Given the description of an element on the screen output the (x, y) to click on. 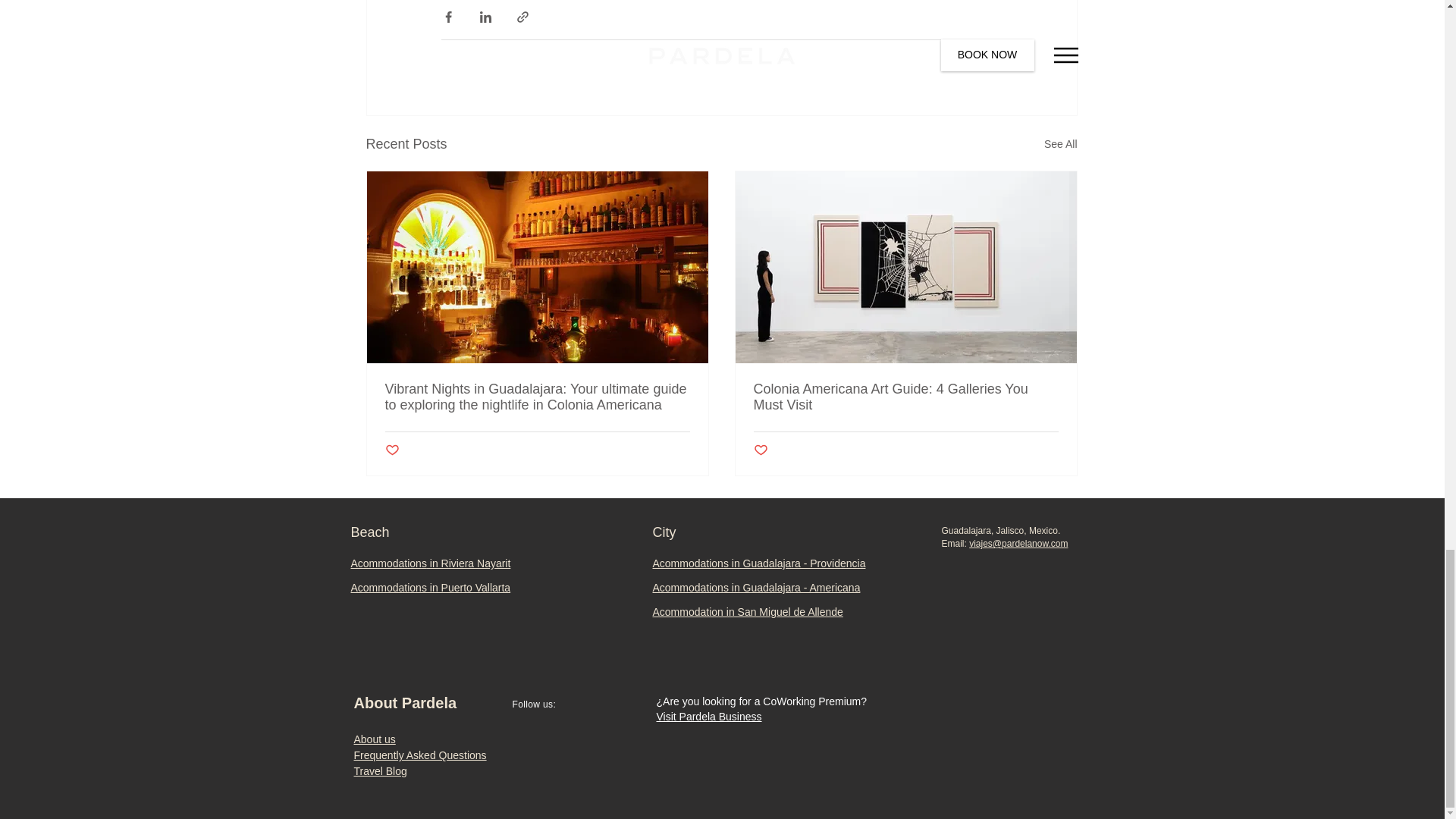
Colonia Americana Art Guide: 4 Galleries You Must Visit (906, 397)
Post not marked as liked (994, 61)
Acommodations in Puerto Vallarta (430, 587)
Acommodations in Guadalajara - Providencia (758, 563)
Post not marked as liked (761, 450)
Acommodations in Guadalajara - Americana (756, 587)
Acommodation in San Miguel de Allende (747, 612)
Post not marked as liked (391, 450)
Acommodations (388, 563)
